Given the description of an element on the screen output the (x, y) to click on. 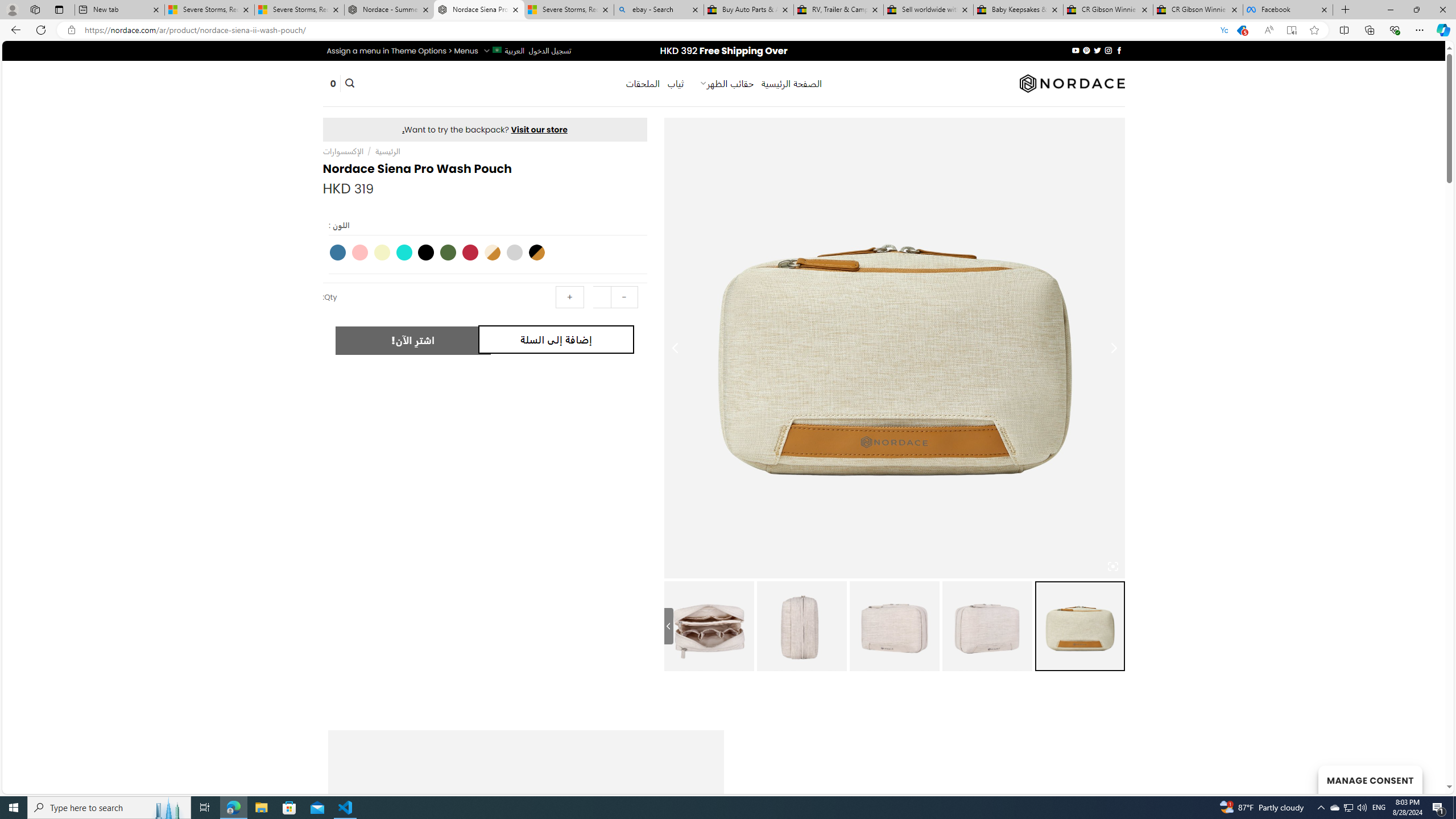
Class: iconic-woothumbs-fullscreen (1113, 566)
Assign a menu in Theme Options > Menus (402, 50)
MANAGE CONSENT (1369, 779)
Follow on Instagram (1108, 50)
Assign a menu in Theme Options > Menus (402, 50)
Nordace Siena Pro Wash Pouch (478, 9)
